Given the description of an element on the screen output the (x, y) to click on. 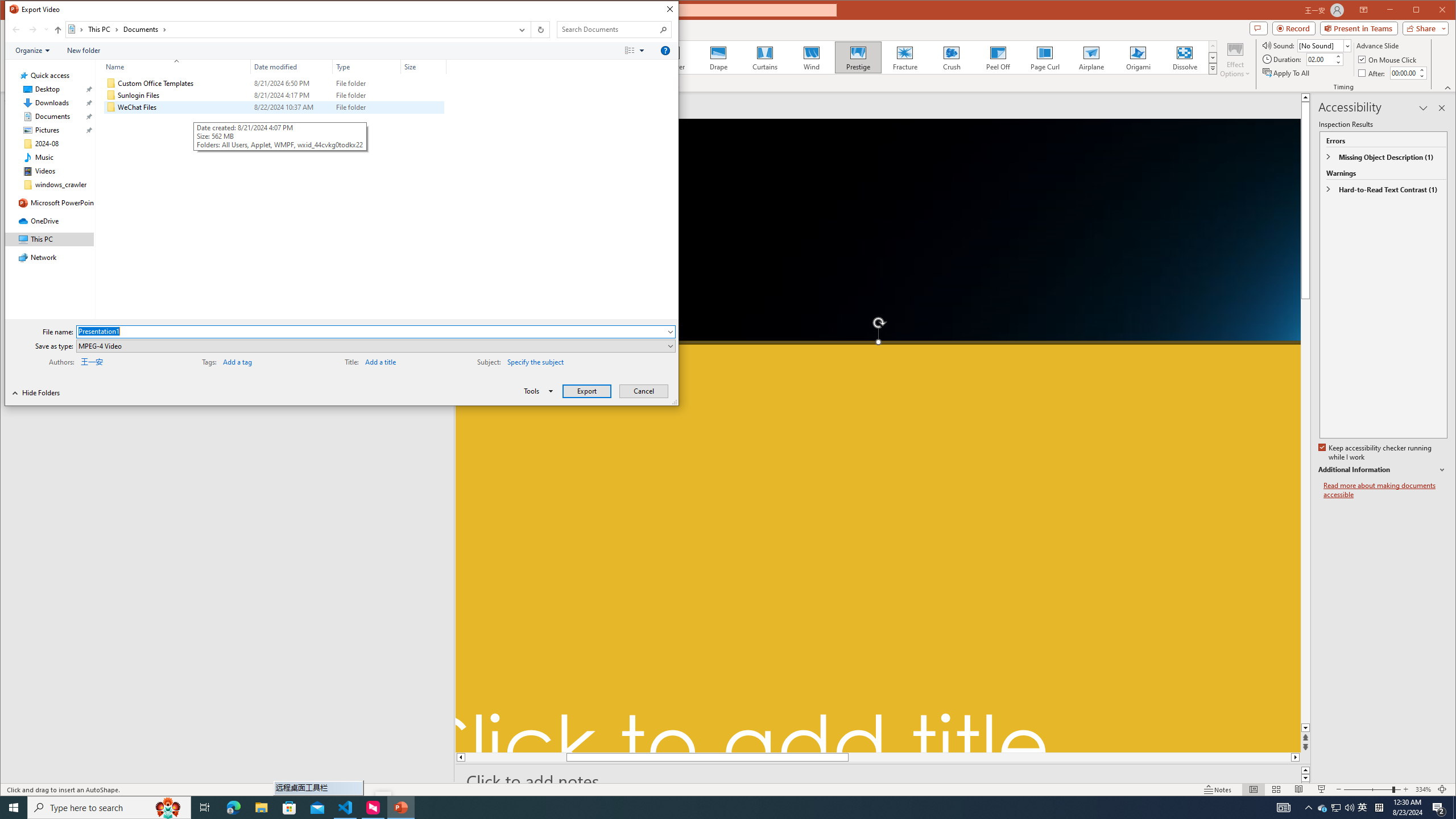
Crush (951, 57)
Name (183, 107)
Organize (32, 50)
Dissolve (1184, 57)
Effect Options (1322, 807)
Name (1235, 59)
Airplane (173, 66)
Size (1091, 57)
